Given the description of an element on the screen output the (x, y) to click on. 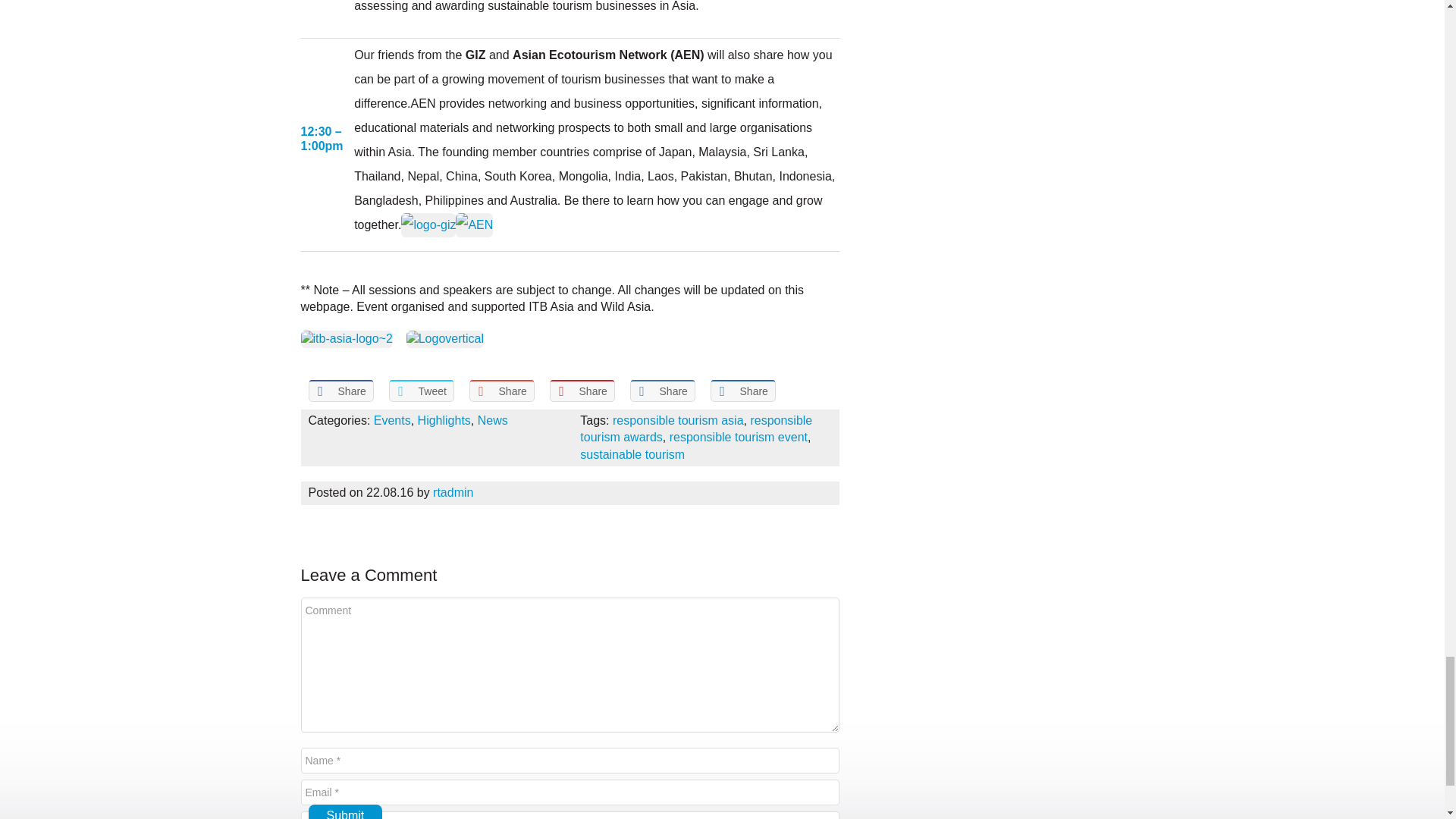
Share on LinkedIn (661, 391)
Share on Twitter (420, 391)
Submit (344, 811)
Share on Facebook (339, 391)
Share on Google Plus (501, 391)
Share on Pinterest (581, 391)
Share on Digg (742, 391)
